Given the description of an element on the screen output the (x, y) to click on. 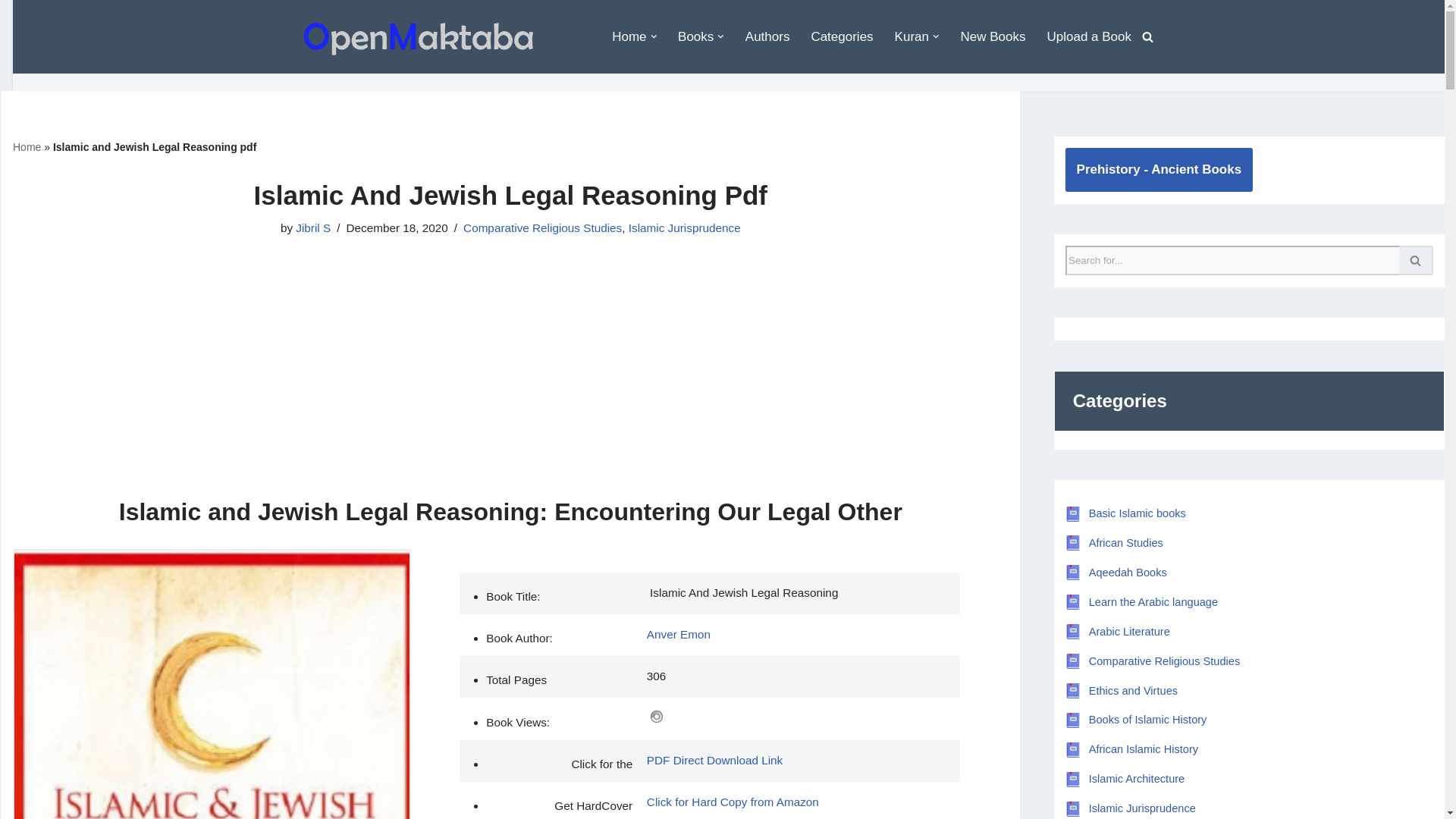
Upload a Book (1088, 35)
Kuran (911, 35)
Authors (767, 35)
New Books (992, 35)
Posts by Jibril S (312, 227)
Skip to content (23, 31)
Categories (841, 35)
Home (628, 35)
Books (695, 35)
